Given the description of an element on the screen output the (x, y) to click on. 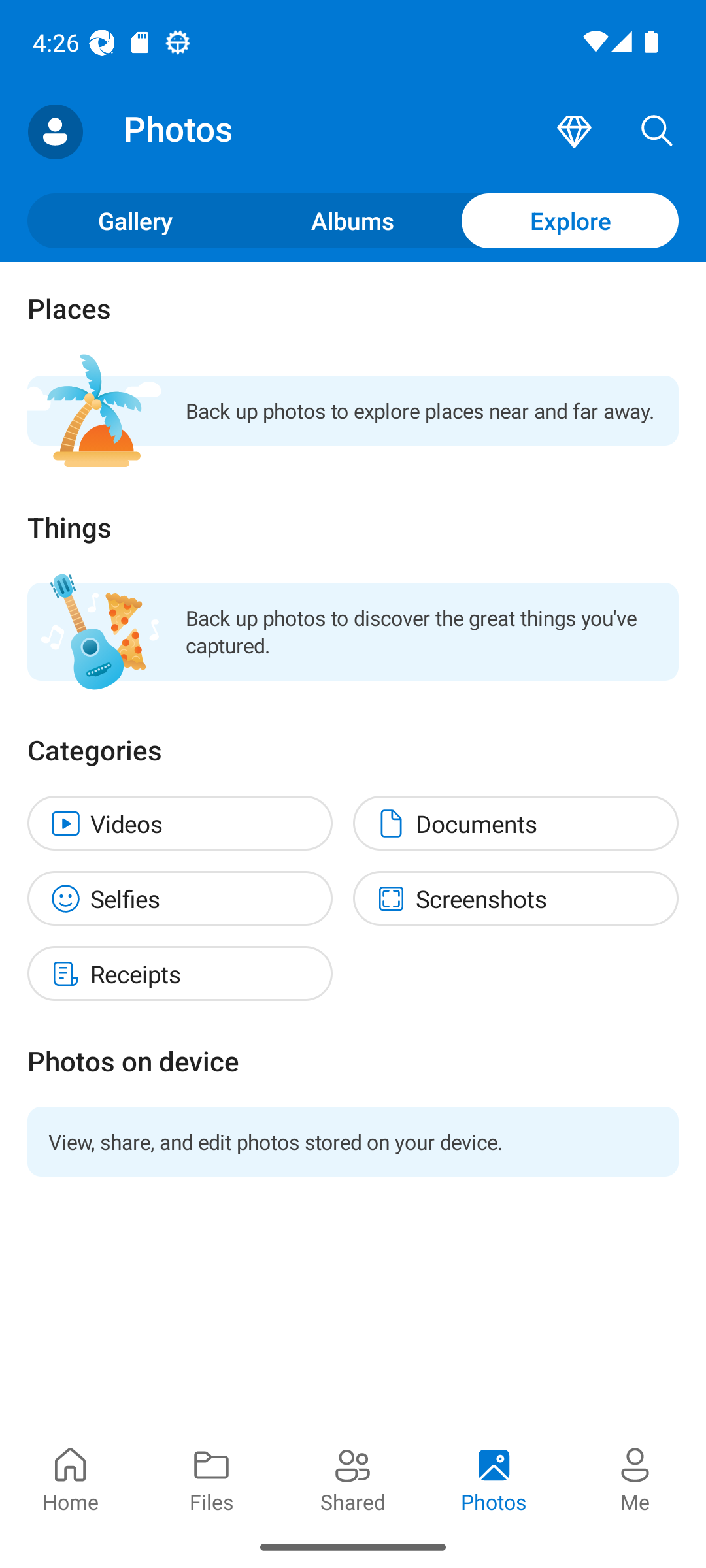
Account switcher (55, 131)
Premium button (574, 131)
Search button (656, 131)
Gallery (135, 219)
Albums (352, 219)
Videos (179, 821)
Documents (515, 821)
Selfies (179, 897)
Screenshots (515, 897)
Receipts (179, 972)
Home pivot Home (70, 1478)
Files pivot Files (211, 1478)
Shared pivot Shared (352, 1478)
Me pivot Me (635, 1478)
